Given the description of an element on the screen output the (x, y) to click on. 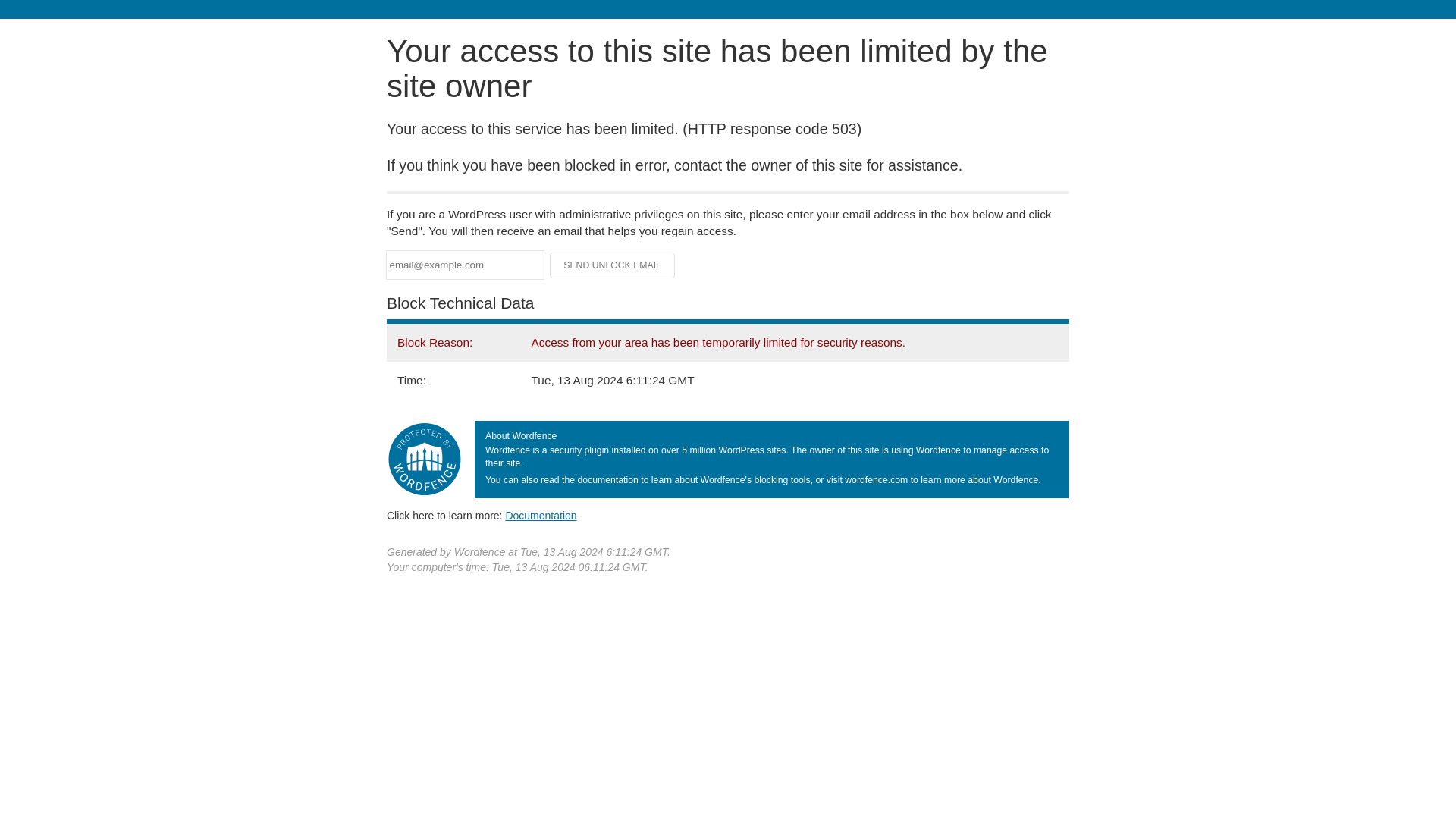
Documentation (540, 515)
Send Unlock Email (612, 265)
Send Unlock Email (612, 265)
